Given the description of an element on the screen output the (x, y) to click on. 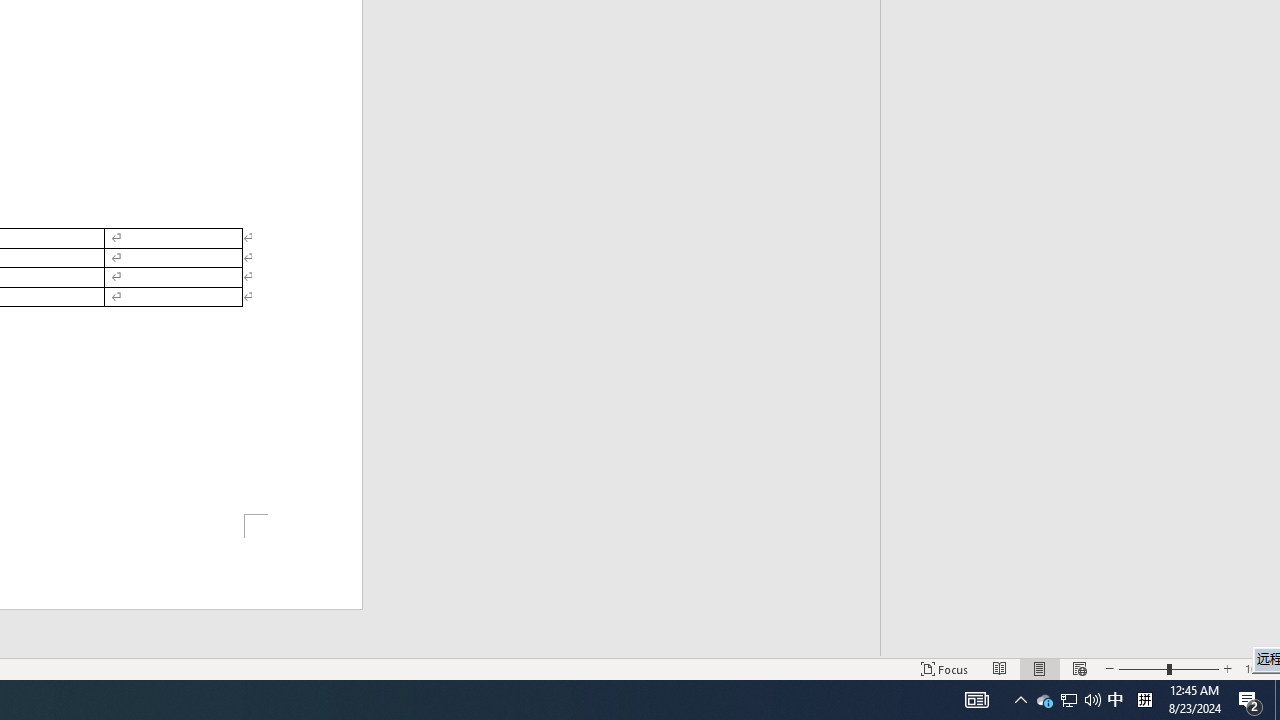
Zoom 100% (1258, 668)
